Given the description of an element on the screen output the (x, y) to click on. 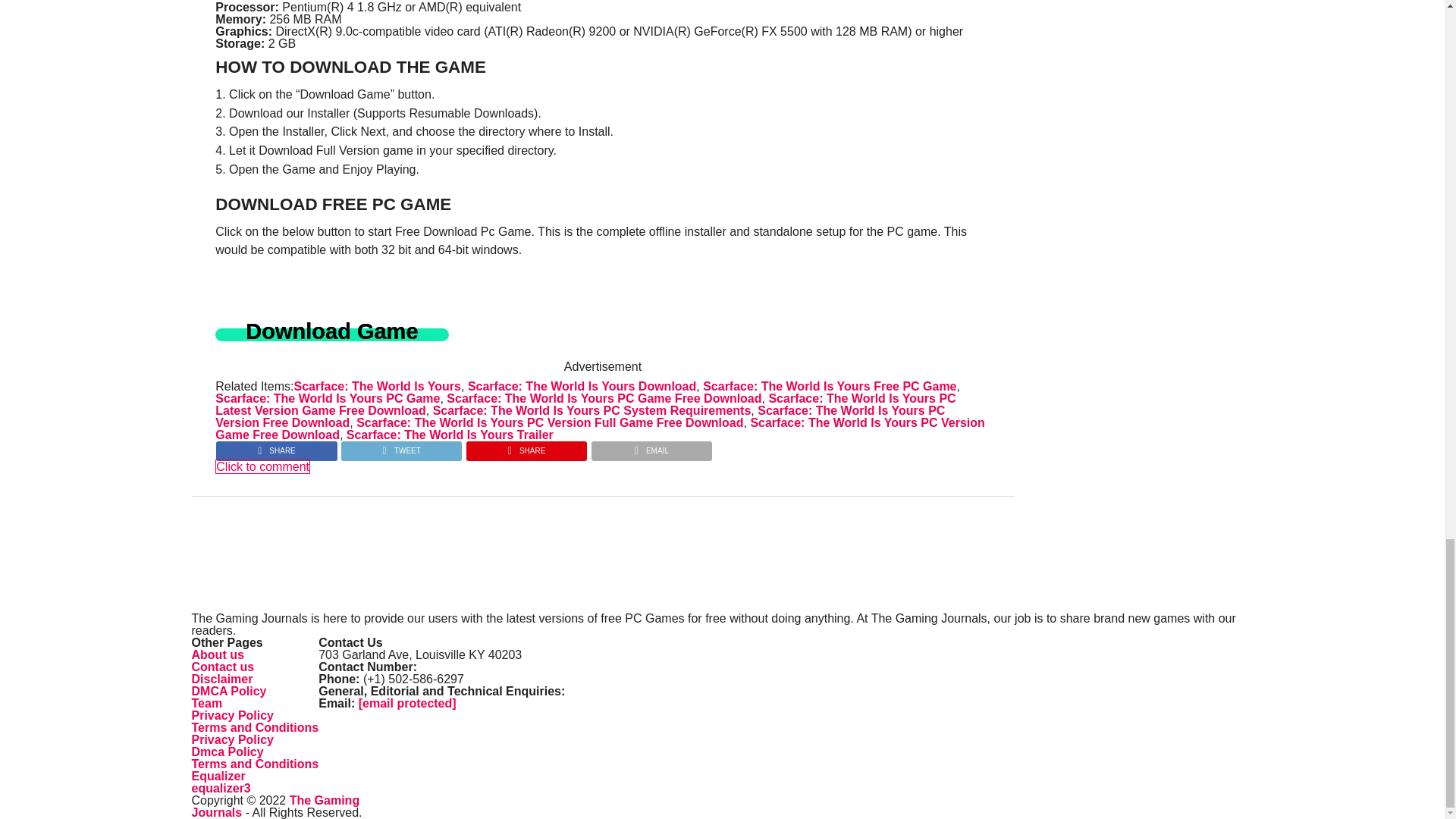
Scarface: The World Is Yours PC Game (327, 398)
TWEET (400, 446)
Share on Facebook (275, 446)
Scarface: The World Is Yours PC Game Free Download (603, 398)
Scarface: The World Is Yours PC System Requirements (591, 410)
Scarface: The World Is Yours PC Version Game Free Download (600, 428)
Scarface: The World Is Yours Download (581, 386)
Download Game (331, 334)
Pin This Post (525, 446)
Scarface: The World Is Yours PC Version Free Download (579, 416)
